Given the description of an element on the screen output the (x, y) to click on. 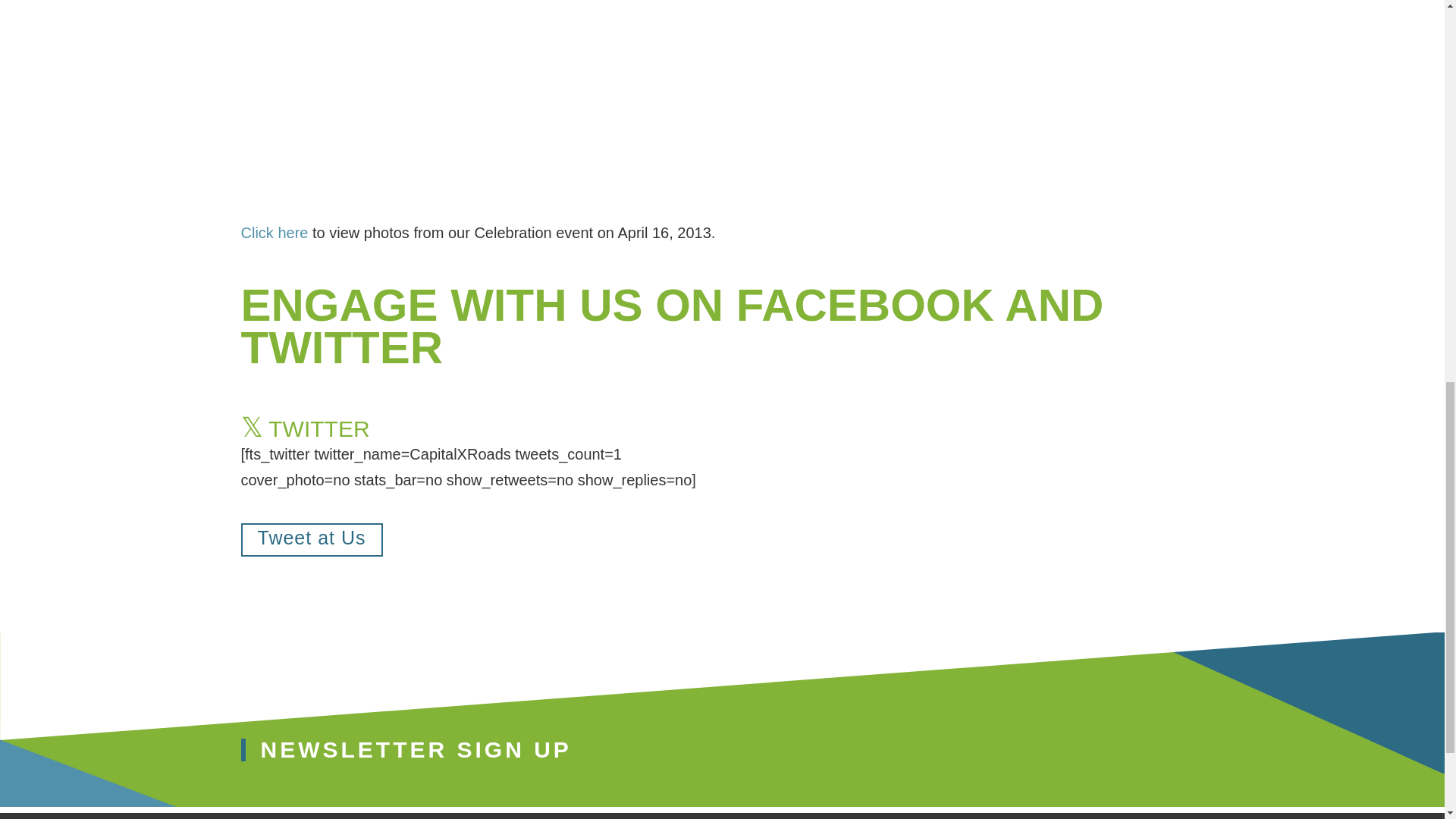
Tweet at Us (311, 539)
Click here (274, 232)
